Given the description of an element on the screen output the (x, y) to click on. 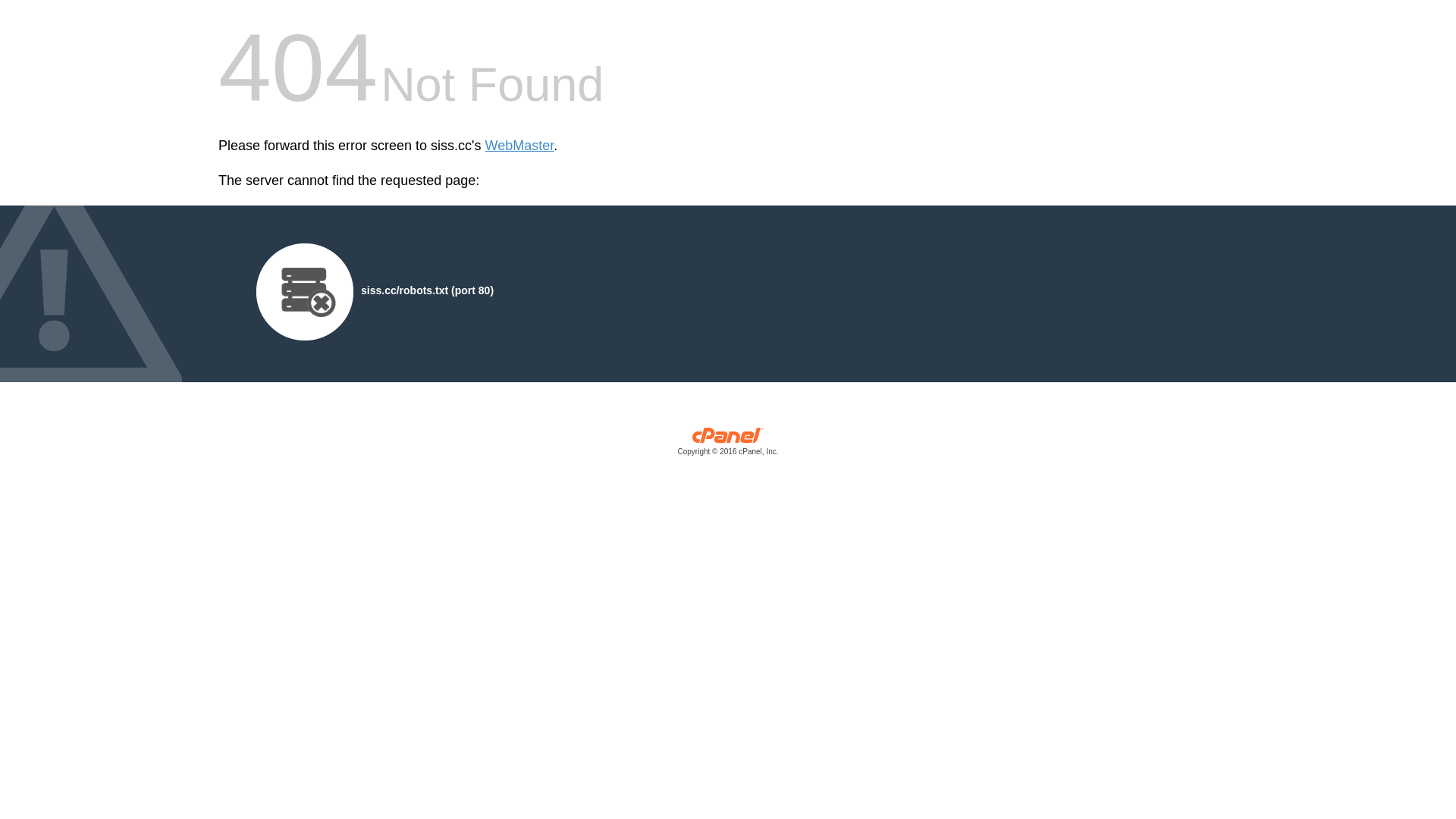
WebMaster Element type: text (519, 145)
